Given the description of an element on the screen output the (x, y) to click on. 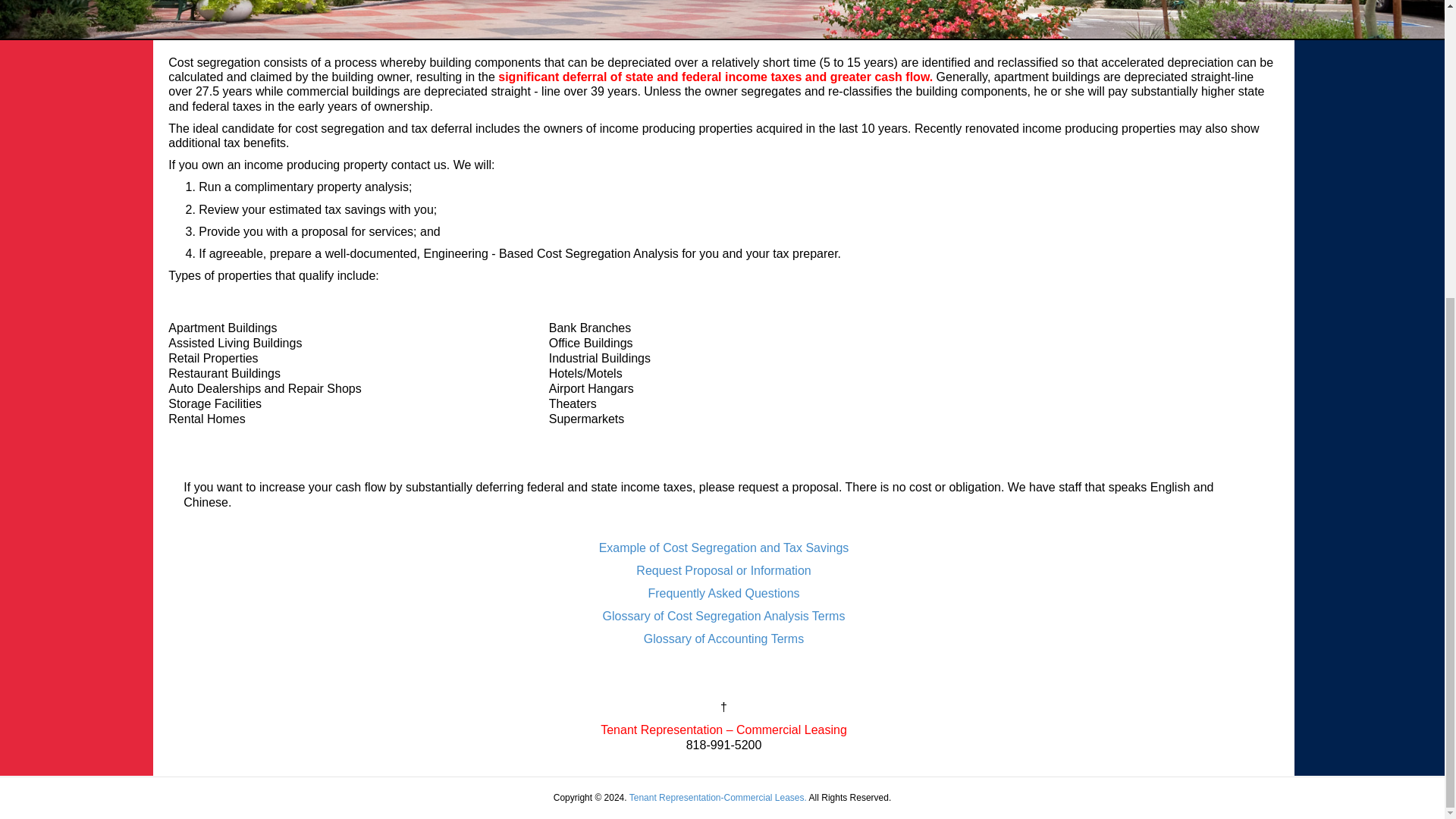
Glossary of Cost Segregation Analysis Terms (723, 615)
Glossary of Accounting Terms (723, 638)
Tenant Representation-Commercial Leases. (717, 797)
Example of Cost Segregation and Tax Savings (723, 547)
Frequently Asked Questions (723, 593)
Request Proposal or Information (723, 570)
